Given the description of an element on the screen output the (x, y) to click on. 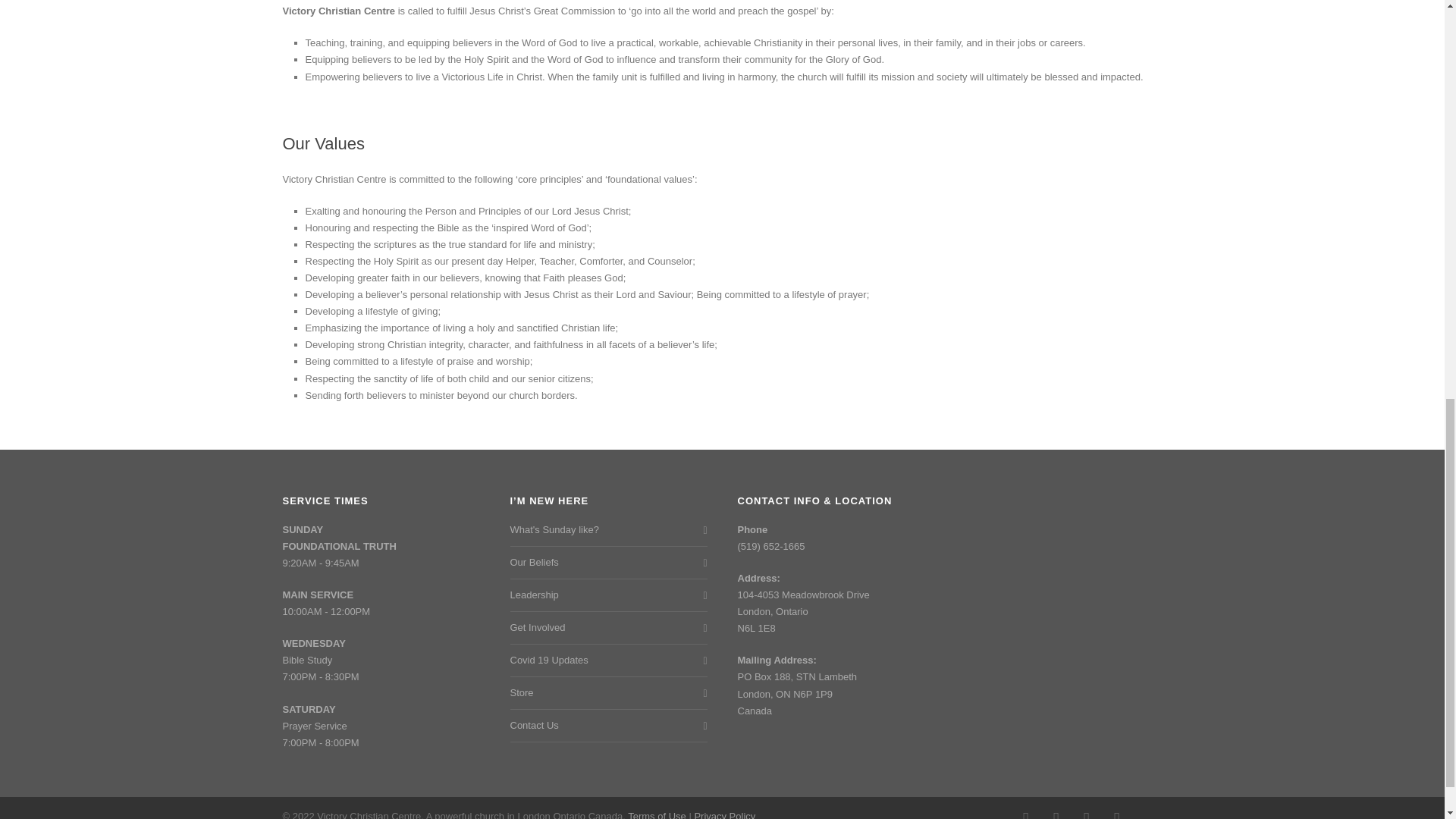
Facebook (1025, 811)
Wealth Producers (1146, 811)
YouTube (1115, 811)
Twitter (1085, 811)
Instagram (1055, 811)
